Given the description of an element on the screen output the (x, y) to click on. 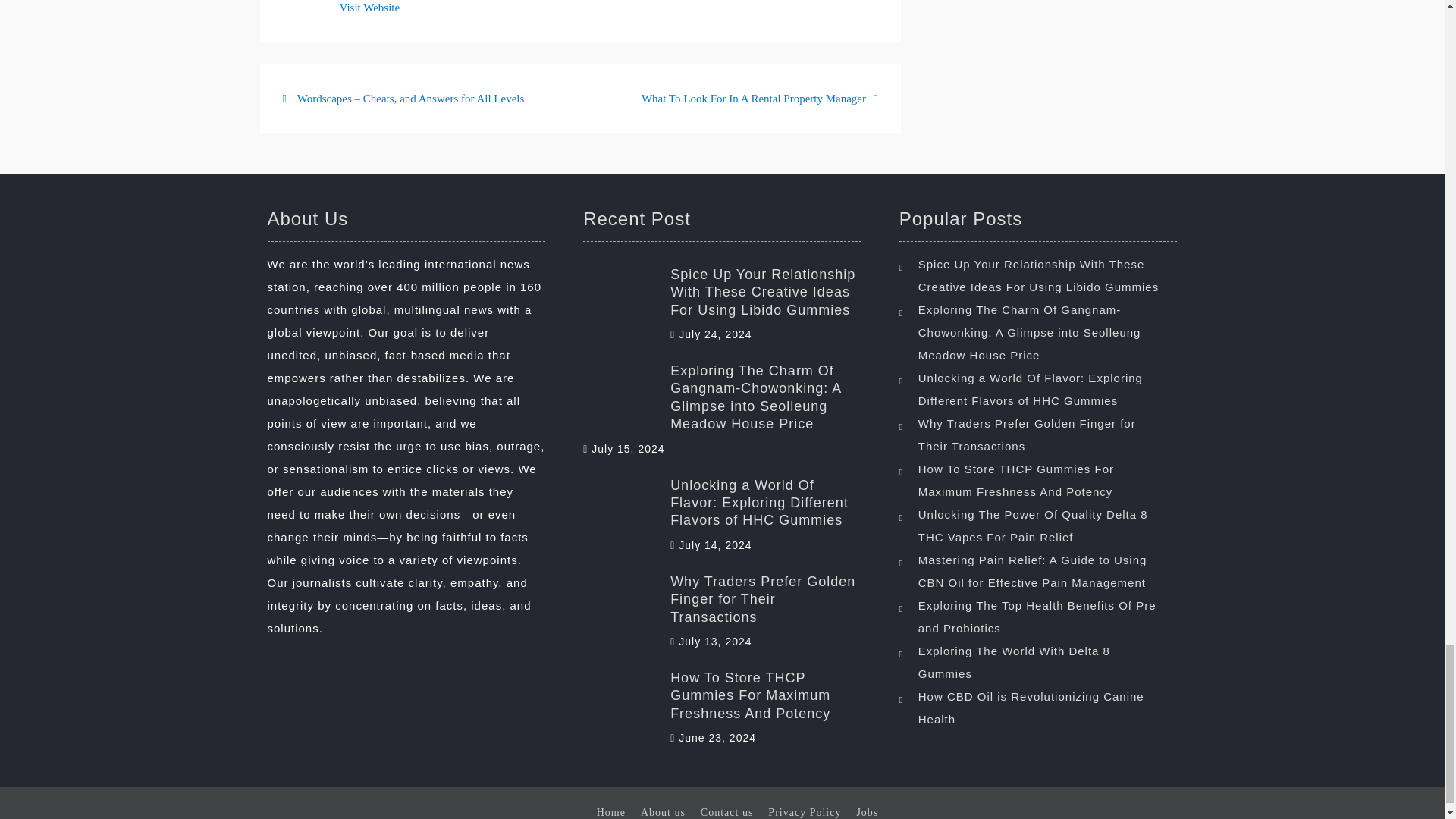
Visit Website (369, 7)
